Given the description of an element on the screen output the (x, y) to click on. 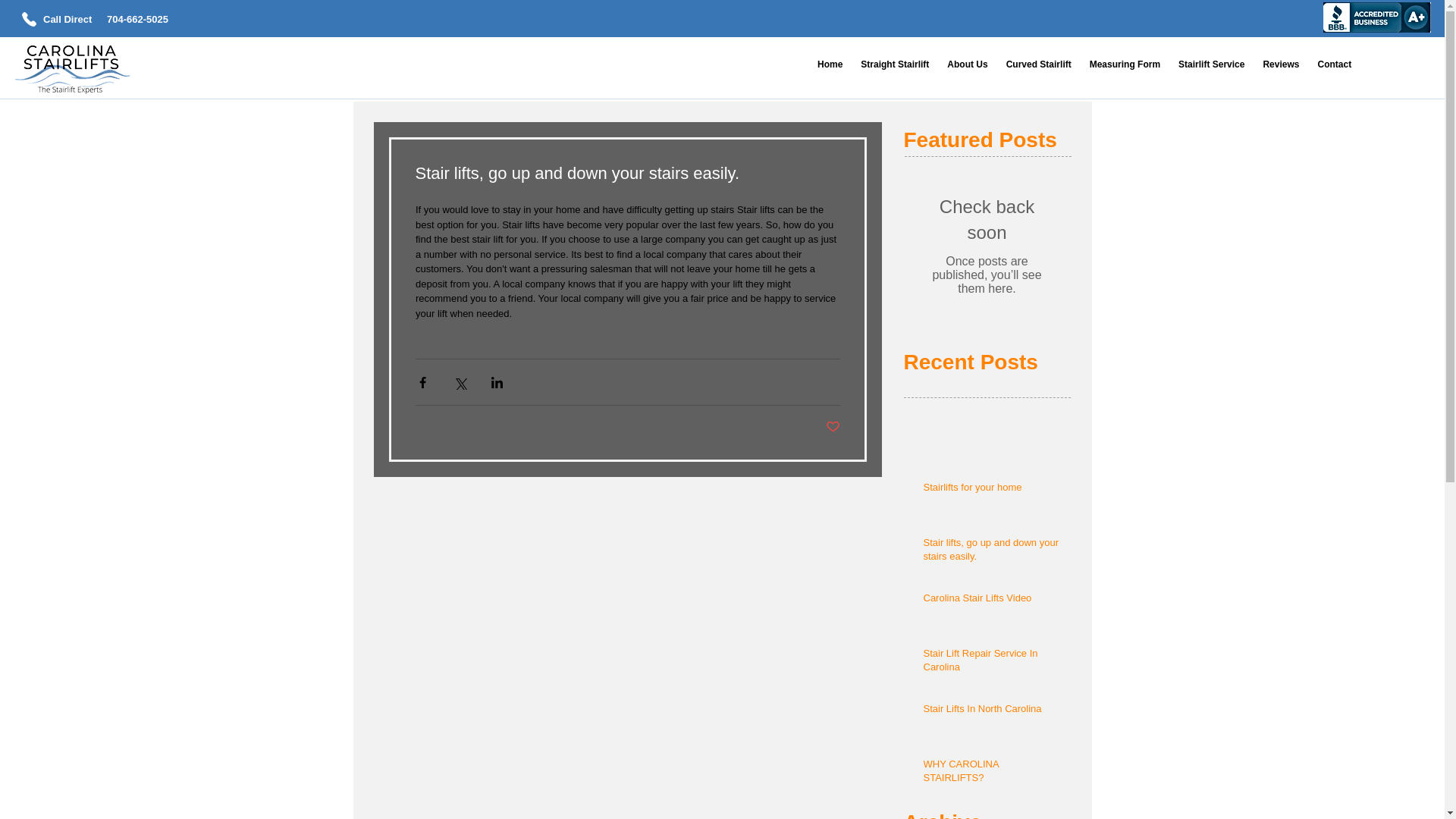
Stairlifts for your home (992, 490)
Home (829, 63)
Carolina Stair Lifts Video (992, 600)
Stair Lift Repair Service In Carolina (992, 663)
Curved Stairlift (1038, 63)
Straight Stairlift (894, 63)
About Us (966, 63)
Measuring Form (1124, 63)
Stairlift Service (1211, 63)
Stair lifts, go up and down your stairs easily. (992, 552)
